Given the description of an element on the screen output the (x, y) to click on. 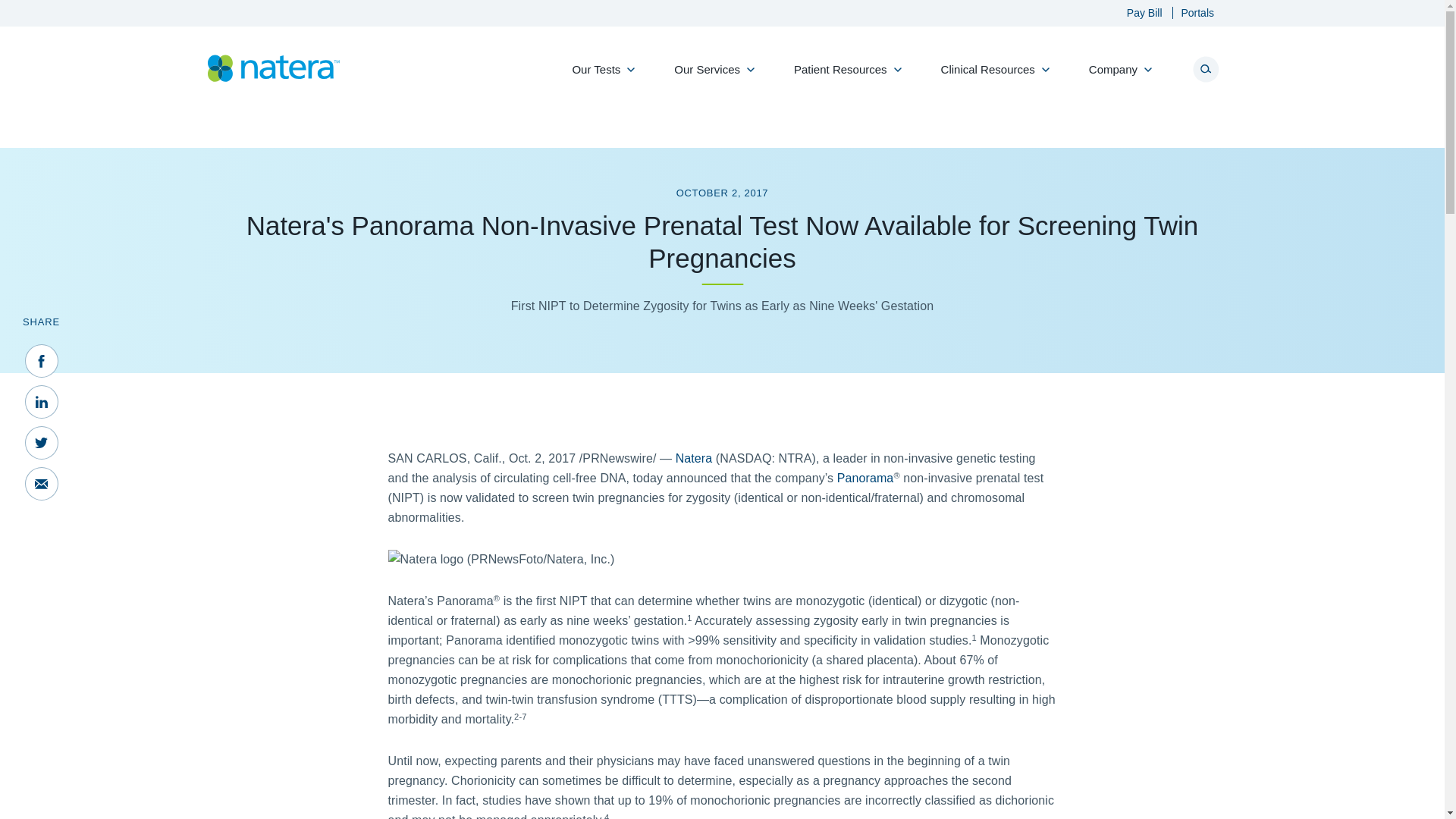
Our Tests (598, 77)
Pay Bill (1136, 12)
LinkedIn (41, 401)
Twitter (41, 442)
Portals (1189, 12)
Facebook (41, 360)
Email (41, 483)
